Given the description of an element on the screen output the (x, y) to click on. 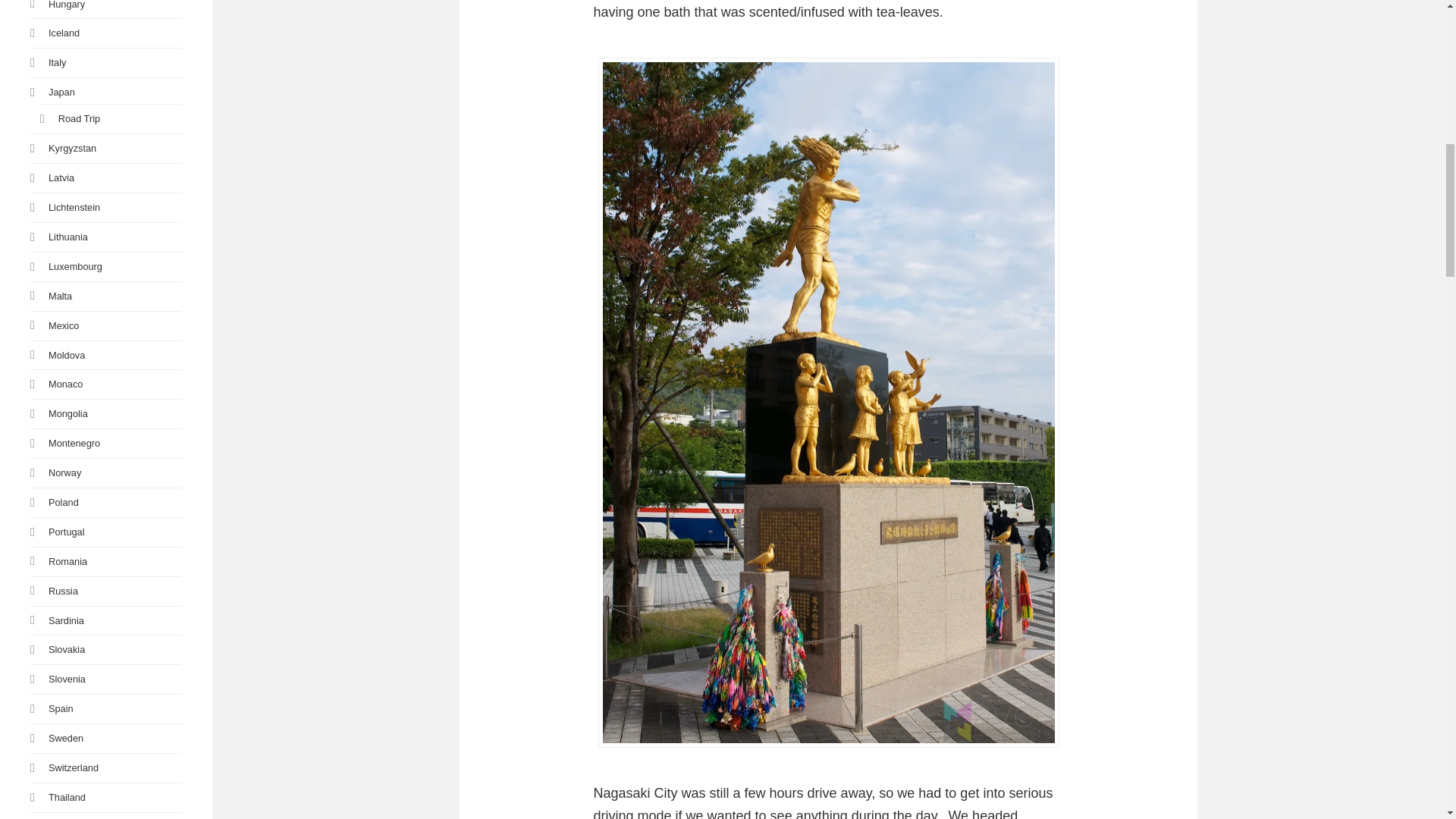
Latvia (61, 177)
Hungary (66, 4)
Iceland (64, 32)
Moldova (66, 355)
Japan (61, 91)
Italy (56, 61)
Luxembourg (74, 266)
Mexico (63, 325)
Lithuania (67, 236)
Lichtenstein (74, 206)
Malta (59, 296)
Monaco (65, 383)
Kyrgyzstan (72, 147)
Road Trip (79, 118)
